Given the description of an element on the screen output the (x, y) to click on. 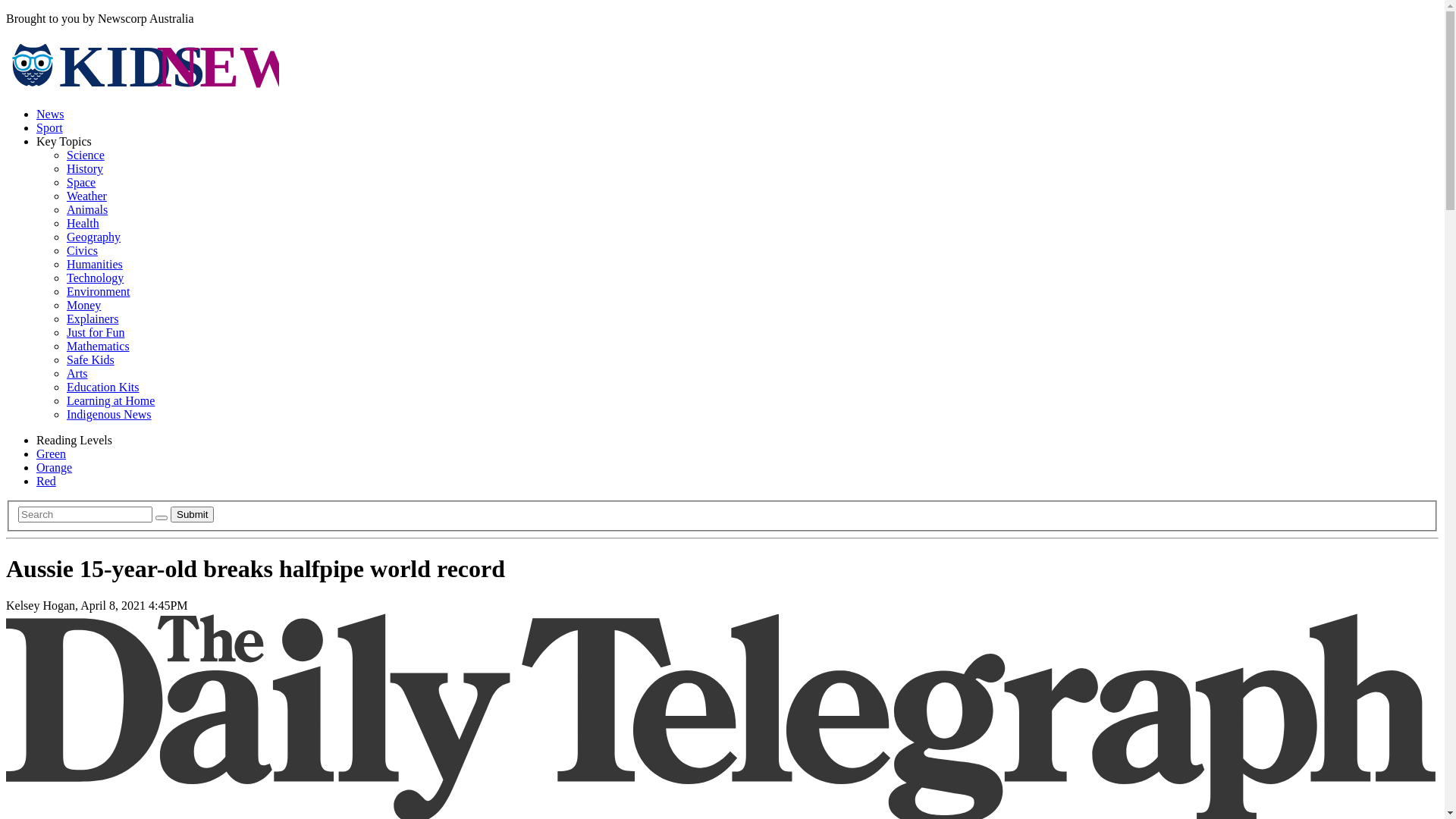
Geography Element type: text (93, 236)
Humanities Element type: text (94, 263)
KIDS NEWS Element type: text (142, 87)
Education Kits Element type: text (102, 386)
Just for Fun Element type: text (95, 332)
Environment Element type: text (98, 291)
Weather Element type: text (86, 195)
Money Element type: text (83, 304)
Sport Element type: text (49, 127)
Mathematics Element type: text (97, 345)
Learning at Home Element type: text (110, 400)
Arts Element type: text (76, 373)
Explainers Element type: text (92, 318)
News Element type: text (49, 113)
Green Element type: text (50, 453)
Technology Element type: text (94, 277)
Civics Element type: text (81, 250)
History Element type: text (84, 168)
Key Topics Element type: text (63, 140)
Animals Element type: text (86, 209)
Safe Kids Element type: text (90, 359)
Science Element type: text (85, 154)
Health Element type: text (82, 222)
Red Element type: text (46, 480)
Indigenous News Element type: text (108, 413)
Space Element type: text (80, 181)
Orange Element type: text (54, 467)
